Given the description of an element on the screen output the (x, y) to click on. 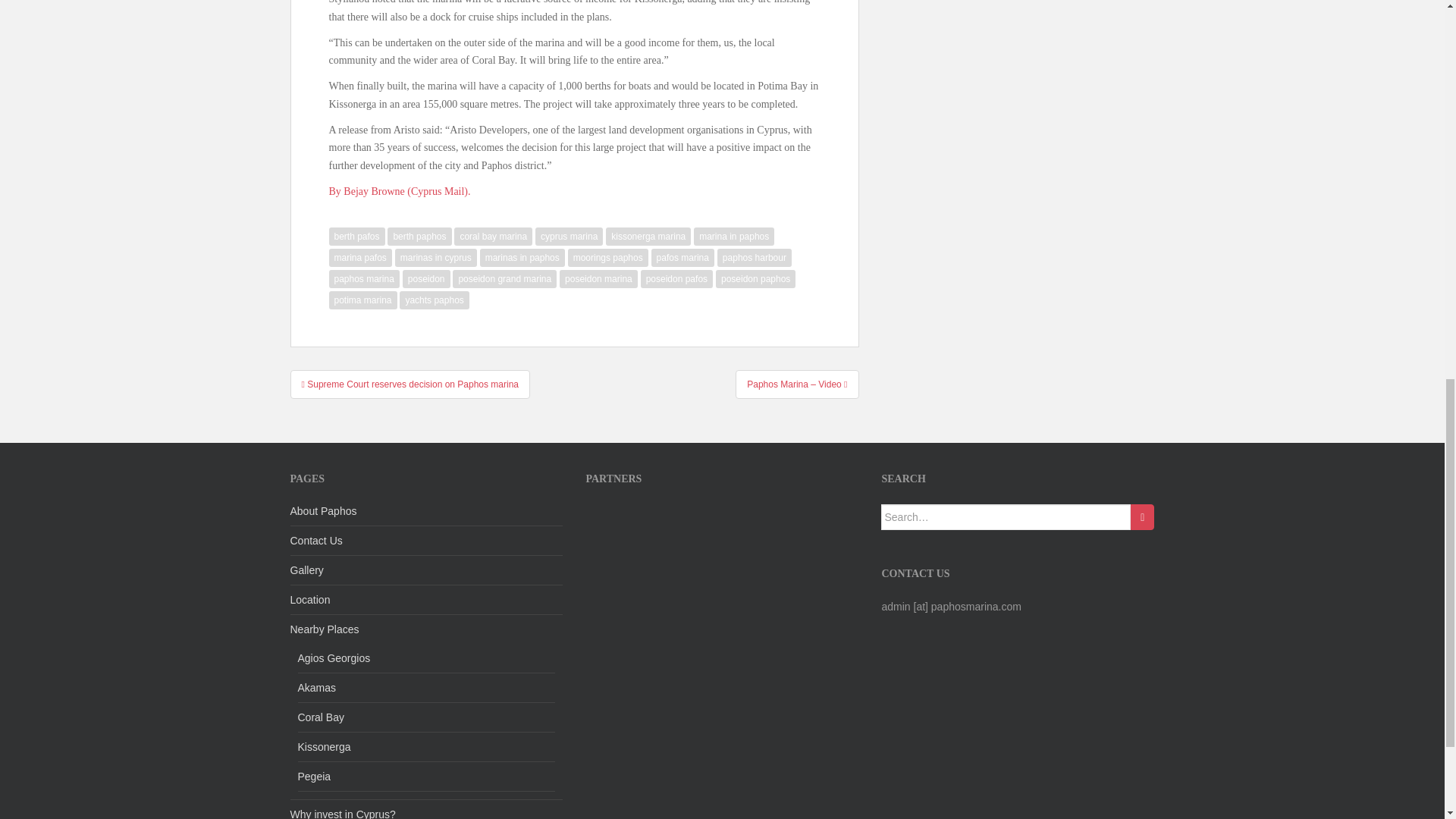
paphos harbour (754, 257)
paphos marina (363, 279)
poseidon marina (598, 279)
berth paphos (419, 236)
poseidon pafos (676, 279)
poseidon grand marina (504, 279)
kissonerga marina (647, 236)
marinas in paphos (522, 257)
marina in paphos (734, 236)
berth pafos (357, 236)
